Given the description of an element on the screen output the (x, y) to click on. 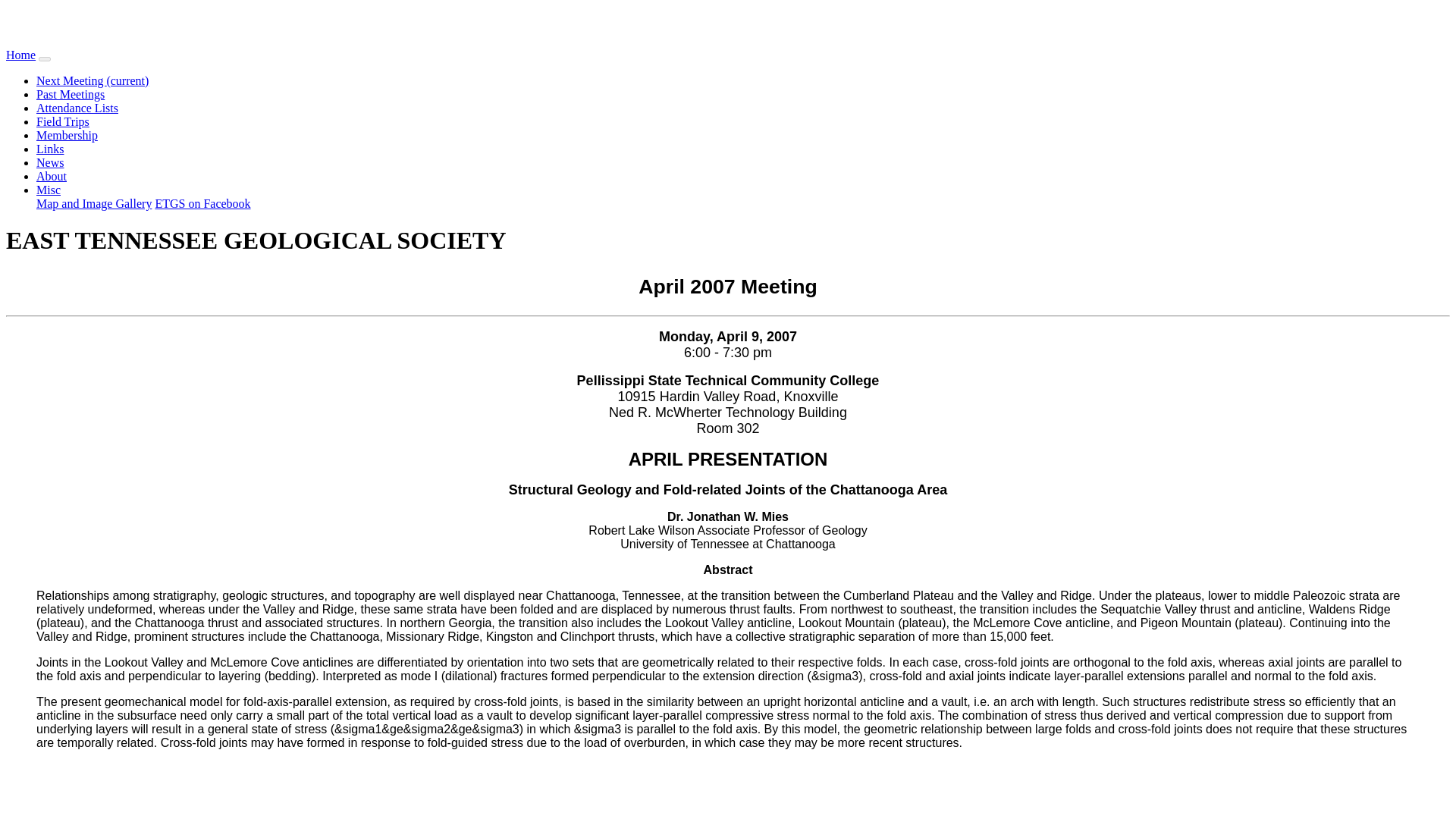
Map and Image Gallery (93, 203)
Home (19, 54)
ETGS on Facebook (202, 203)
Attendance Lists (76, 107)
About (51, 175)
Field Trips (62, 121)
News (50, 162)
Past Meetings (70, 93)
Links (50, 148)
Misc (48, 189)
Membership (66, 134)
